Given the description of an element on the screen output the (x, y) to click on. 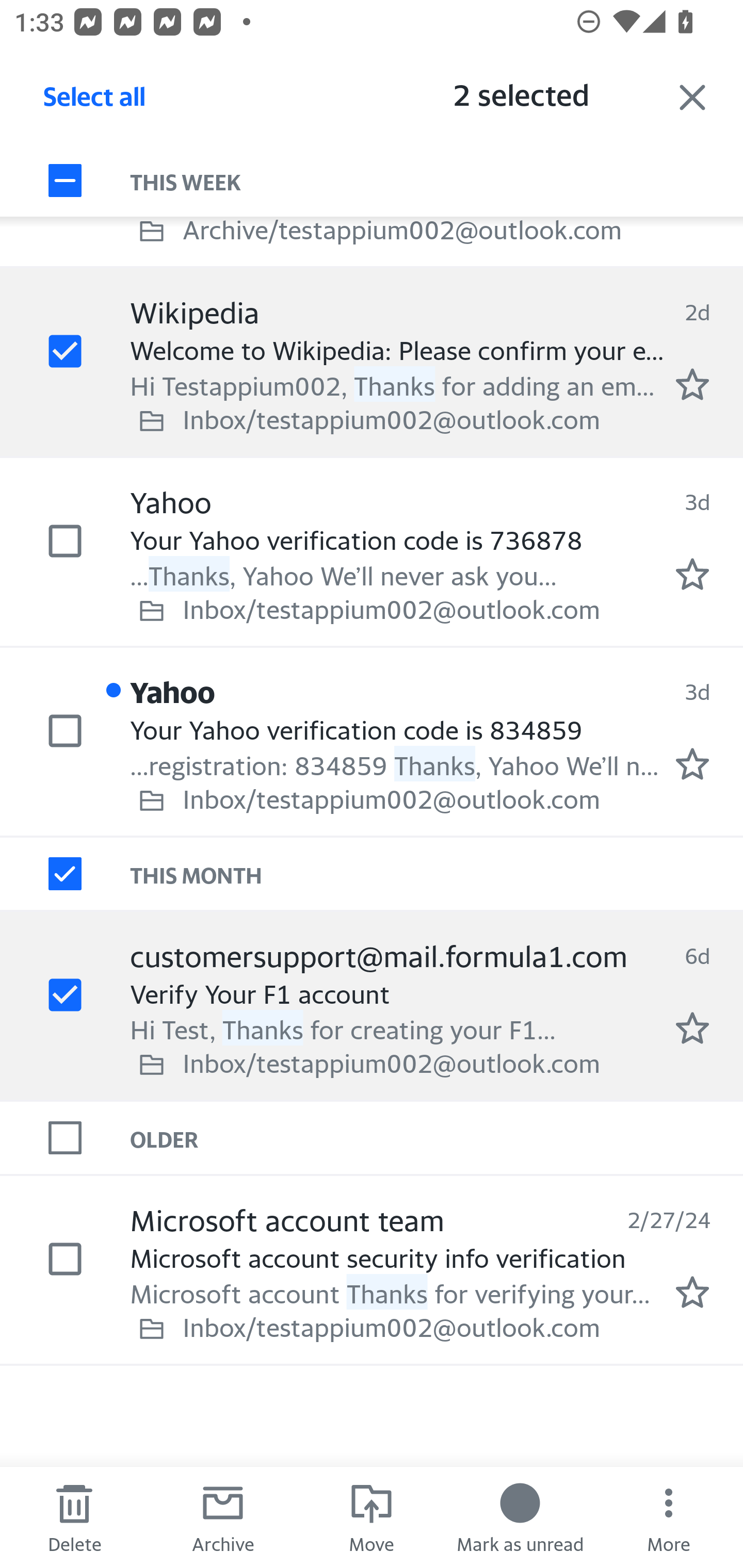
Exit selection mode (692, 97)
Select all (94, 101)
Mark as starred. (692, 384)
Mark as starred. (692, 574)
Mark as starred. (692, 764)
THIS MONTH (436, 873)
Mark as starred. (692, 1027)
OLDER (436, 1137)
Mark as starred. (692, 1291)
Delete (74, 1517)
Archive (222, 1517)
Move (371, 1517)
Mark as unread (519, 1517)
More (668, 1517)
